Given the description of an element on the screen output the (x, y) to click on. 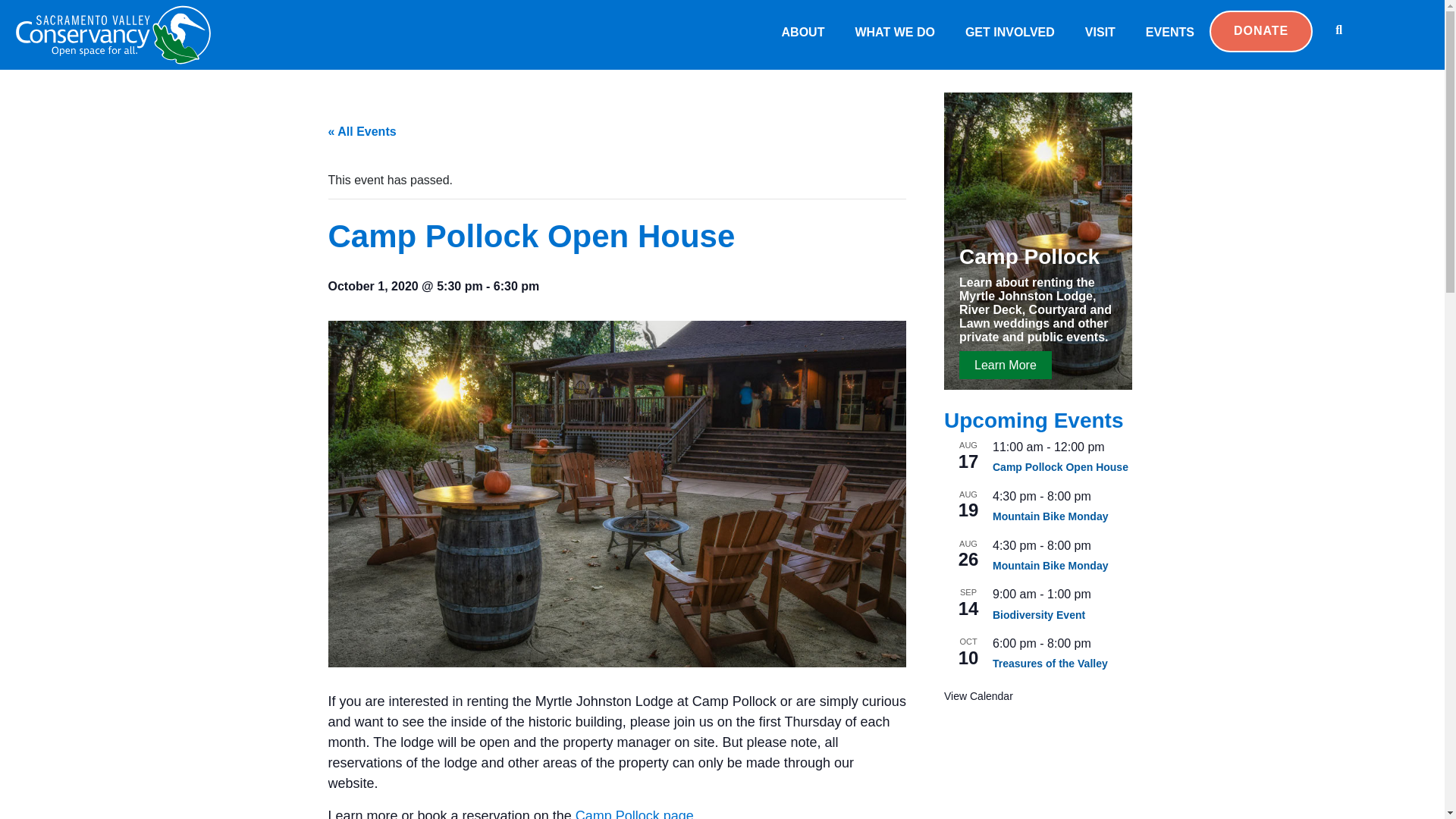
View more events. (978, 696)
Biodiversity Event (1038, 615)
GET INVOLVED (1010, 32)
VISIT (1100, 32)
Treasures of the Valley (1050, 663)
Mountain Bike Monday (1050, 516)
Camp Pollock Open House (1060, 467)
ABOUT (803, 32)
WHAT WE DO (894, 32)
Mountain Bike Monday (1050, 565)
